Given the description of an element on the screen output the (x, y) to click on. 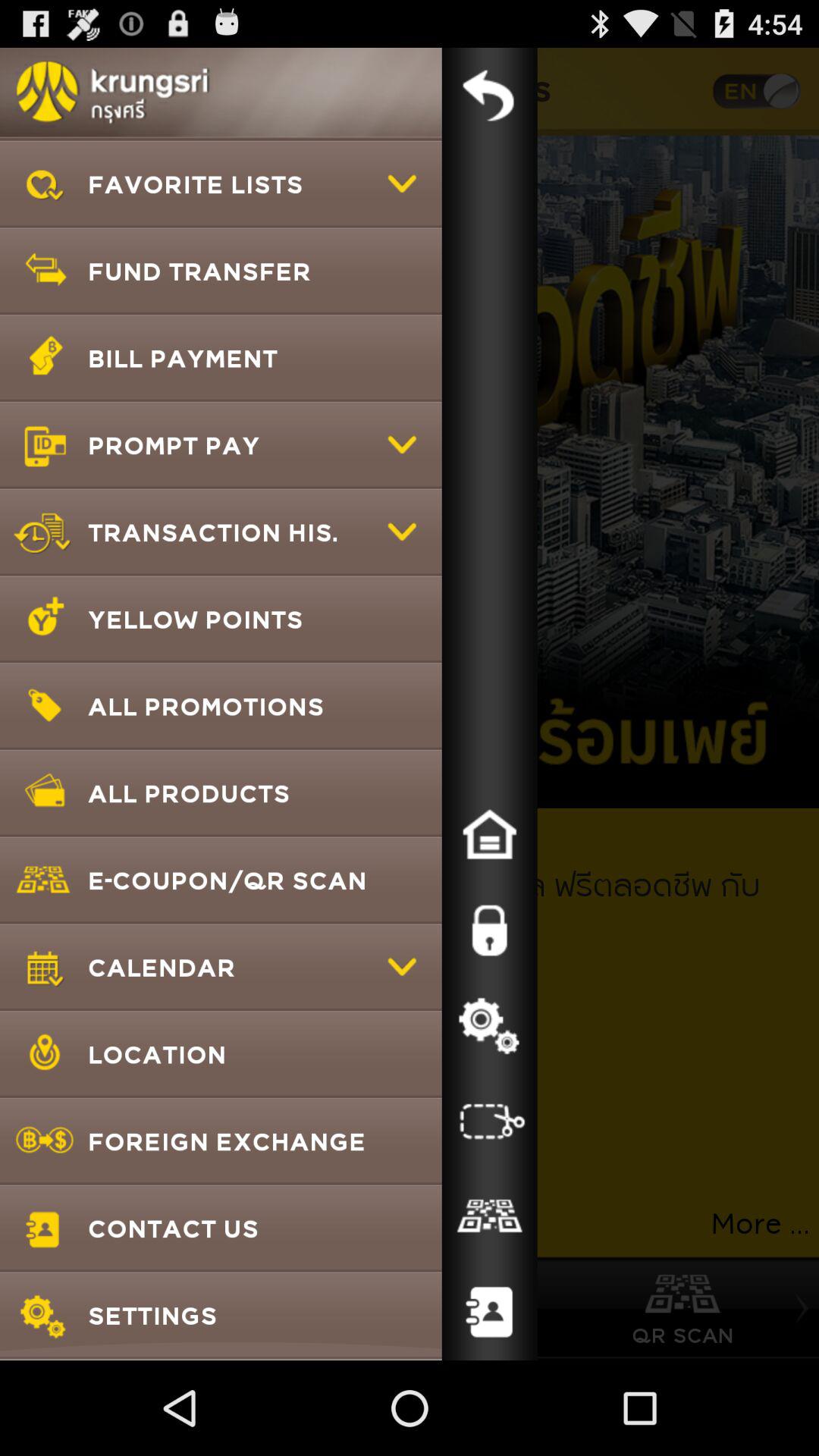
back (489, 95)
